Given the description of an element on the screen output the (x, y) to click on. 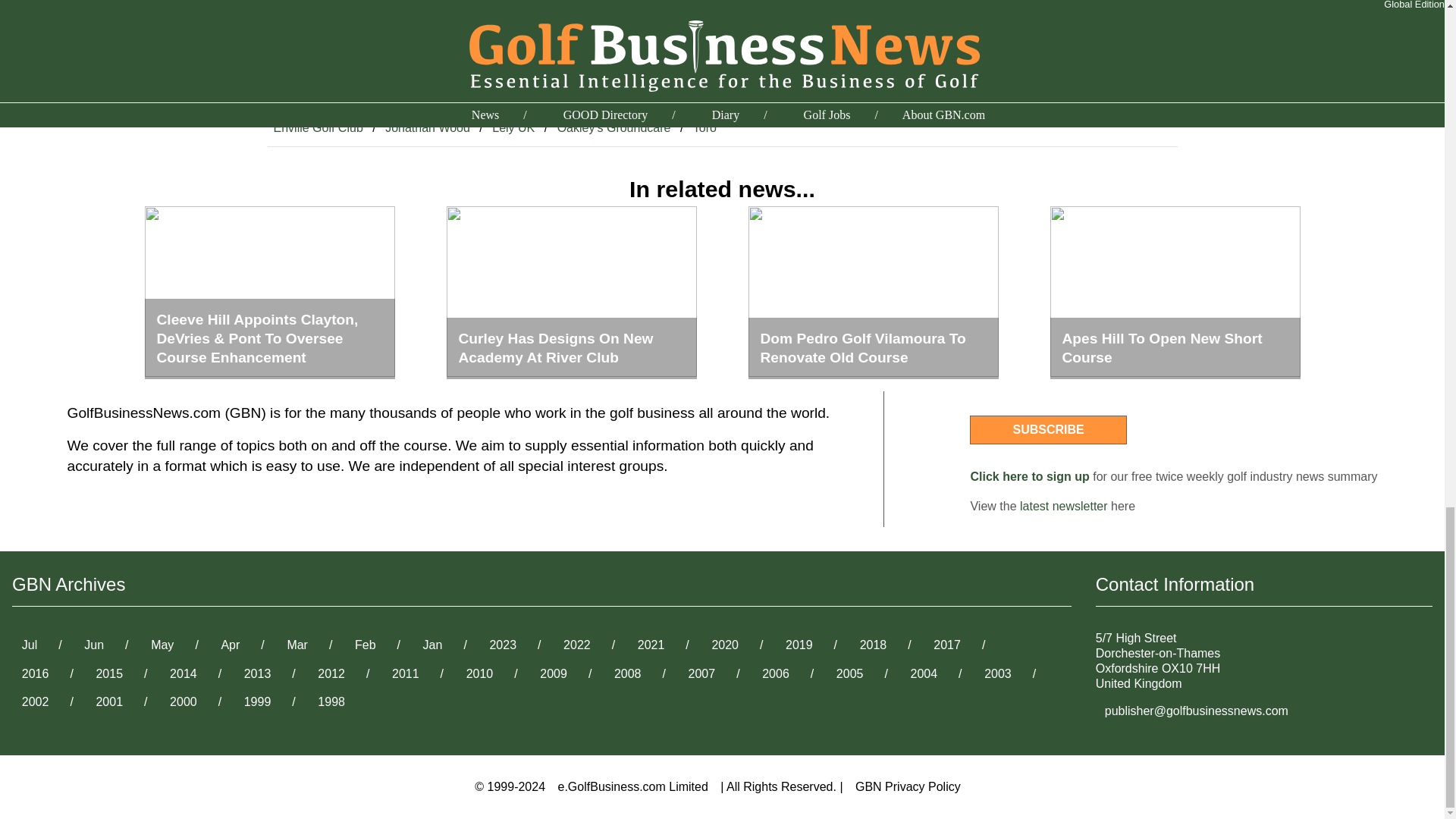
Toro (704, 127)
Jonathan Wood (427, 127)
Oakley's Groundcare (614, 127)
Enville Golf Club (317, 127)
Share on LinkedIn (998, 51)
Share on Twitter (993, 21)
Lely UK (513, 127)
